Given the description of an element on the screen output the (x, y) to click on. 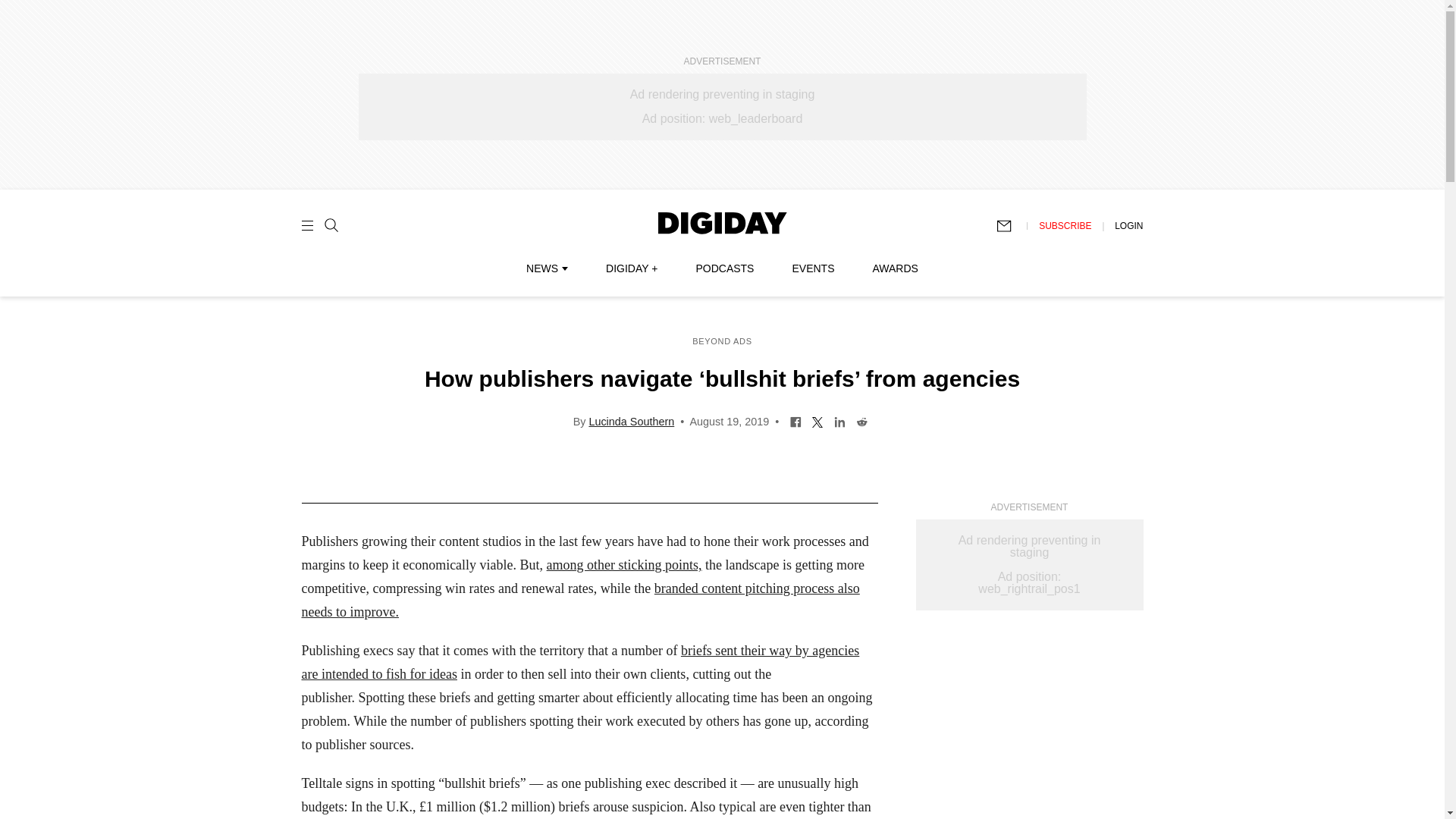
EVENTS (813, 267)
SUBSCRIBE (1064, 225)
LOGIN (1128, 225)
PODCASTS (725, 267)
Share on LinkedIn (838, 420)
Subscribe (1010, 225)
Share on Twitter (817, 420)
NEWS (546, 267)
Share on Facebook (795, 420)
Share on Reddit (861, 420)
AWARDS (894, 267)
